Given the description of an element on the screen output the (x, y) to click on. 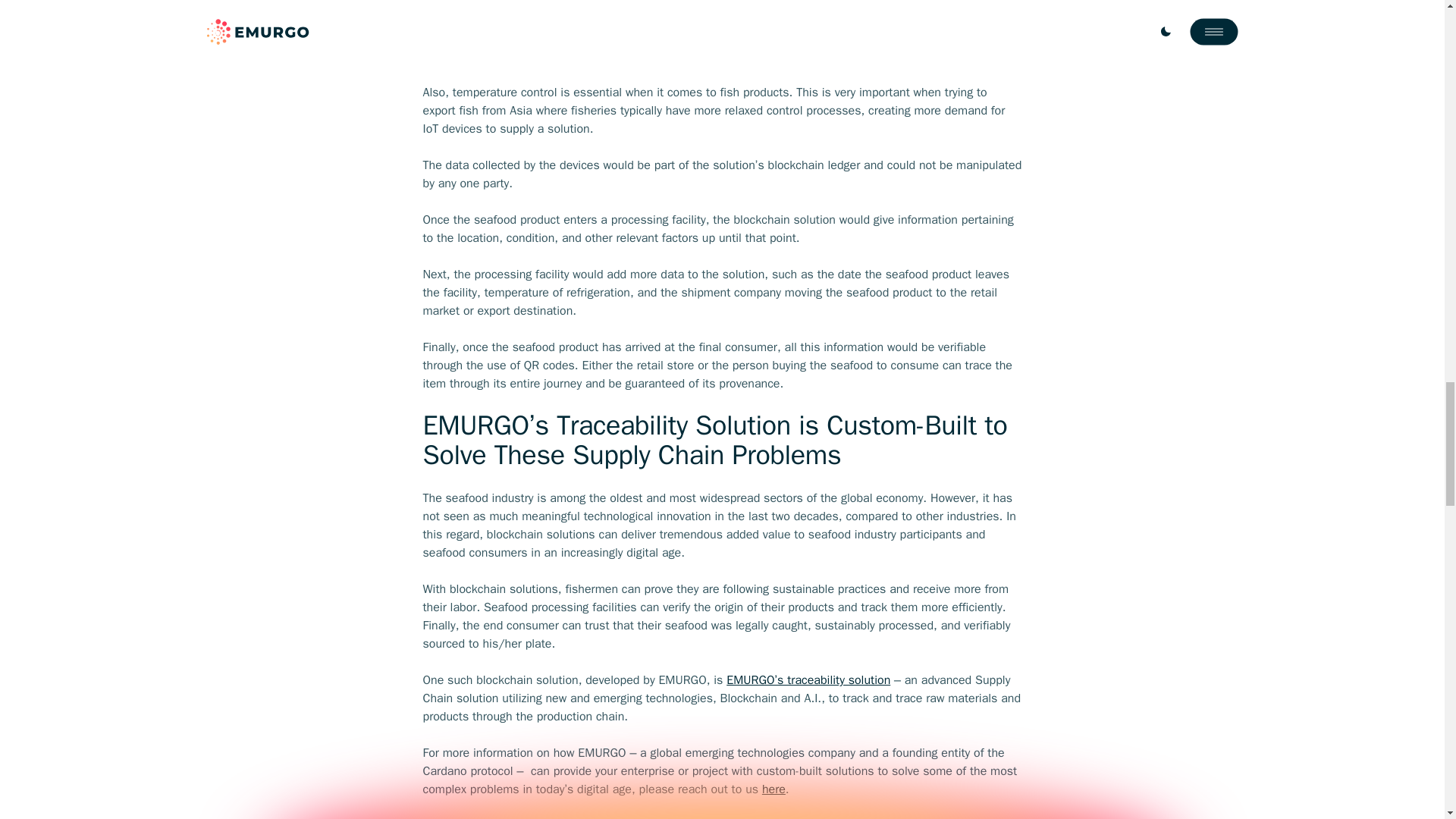
here (773, 789)
